Given the description of an element on the screen output the (x, y) to click on. 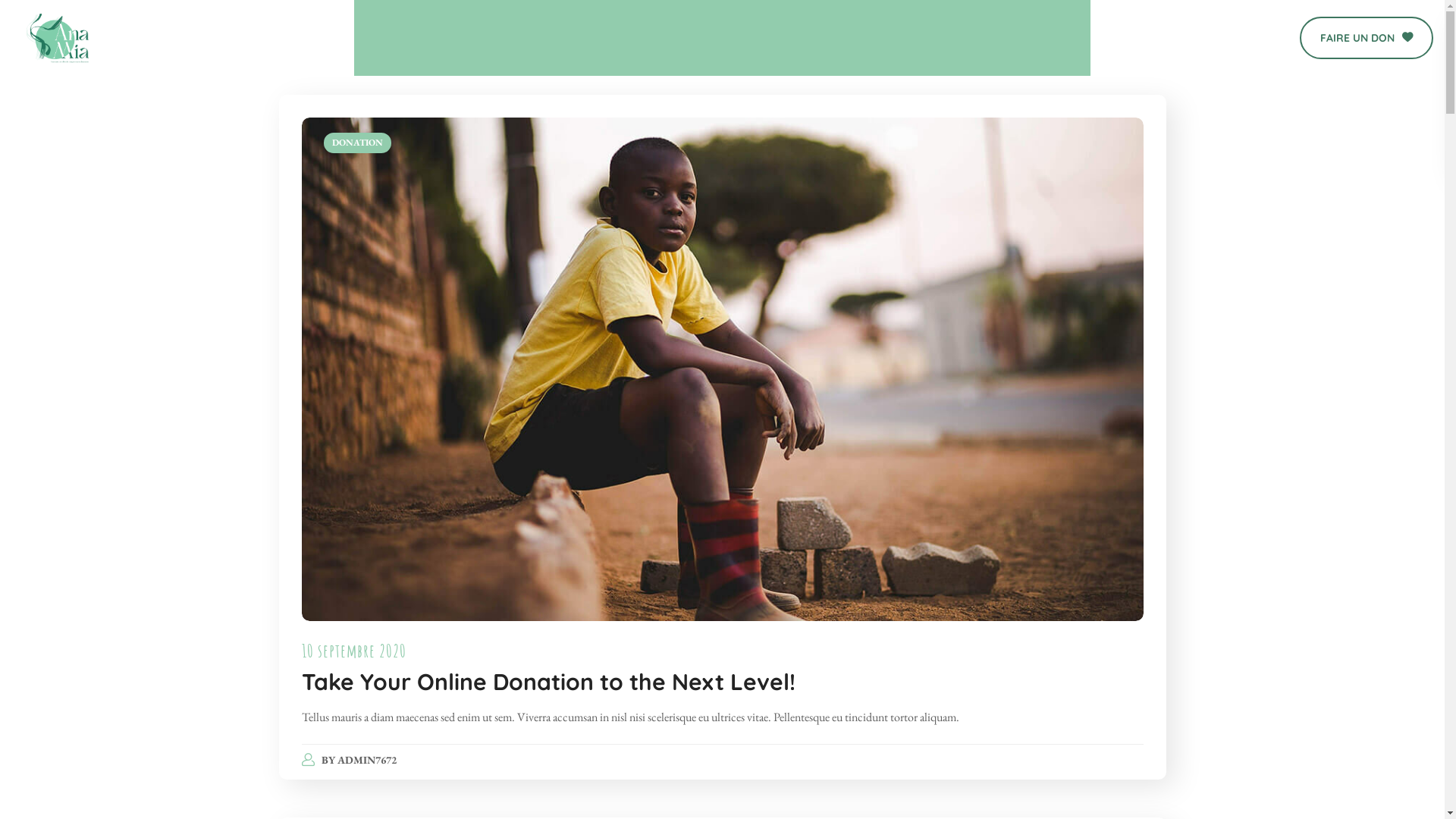
Click to open Shopping Cart Element type: hover (1225, 38)
ADMIN7672 Element type: text (366, 759)
Search Element type: text (1220, 127)
DONATION Element type: text (356, 142)
Take Your Online Donation to the Next Level! Element type: text (548, 681)
FAIRE UN DON Element type: text (1366, 37)
